Given the description of an element on the screen output the (x, y) to click on. 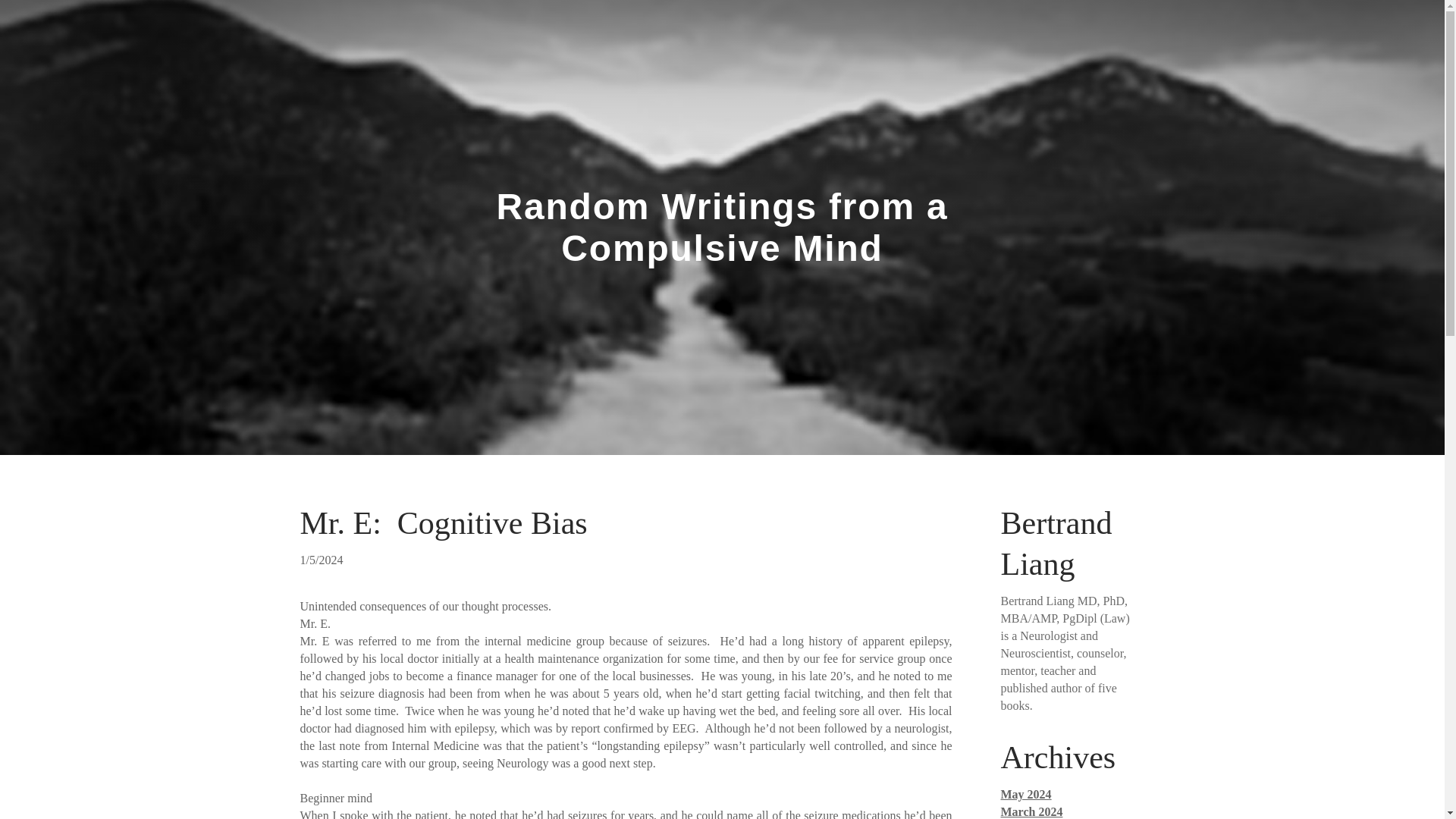
Mr. E:  Cognitive Bias (443, 523)
March 2024 (1031, 811)
May 2024 (1026, 793)
